Given the description of an element on the screen output the (x, y) to click on. 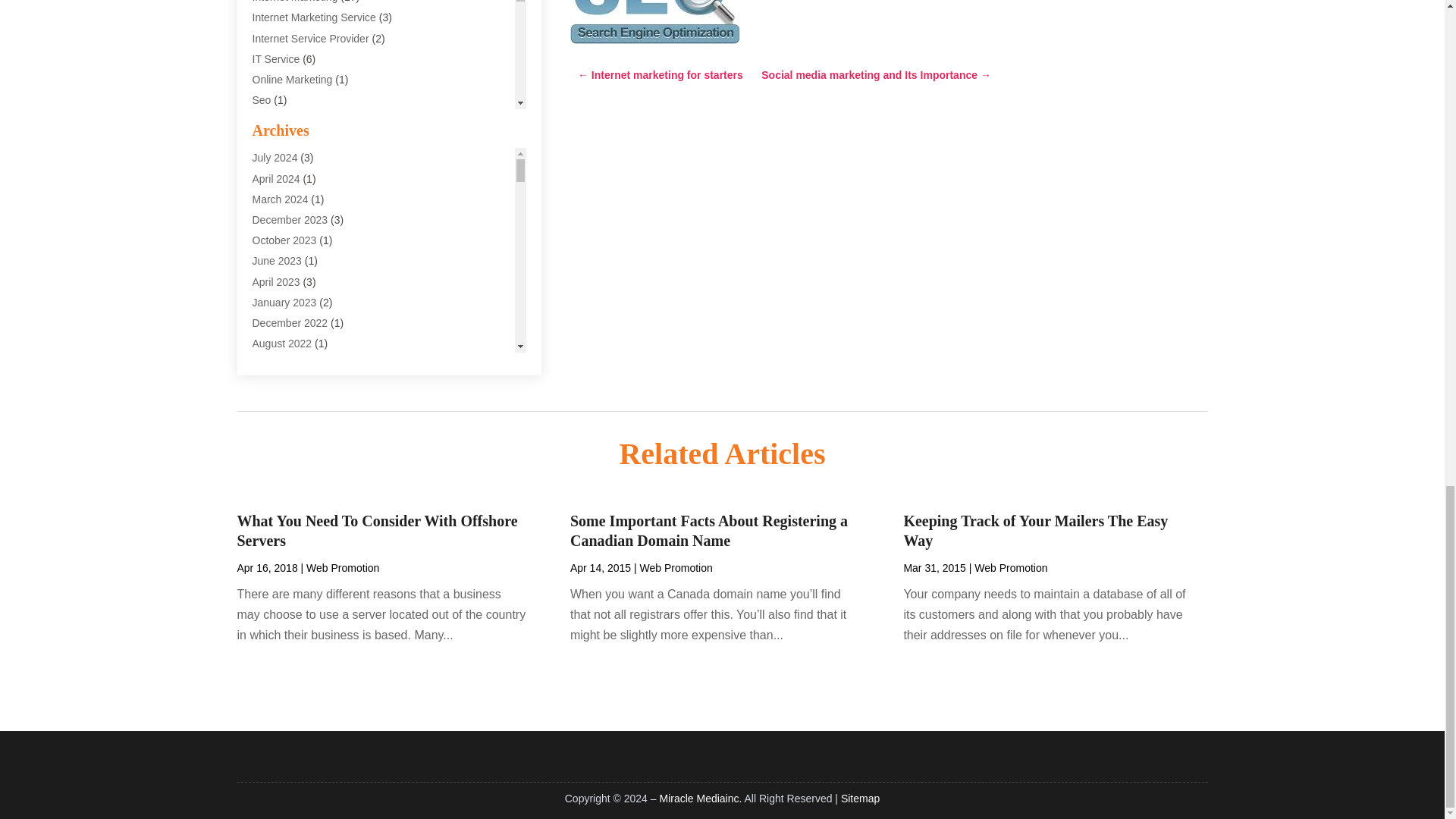
Software Company (296, 120)
Internet Service Provider (309, 38)
Seo (260, 100)
Supply Chain Management (315, 162)
Online Marketing (291, 79)
Software Development (305, 141)
Search Engine Optimization (654, 22)
Internet Marketing Service (313, 17)
Internet Marketing (294, 1)
Web Design (279, 182)
